Given the description of an element on the screen output the (x, y) to click on. 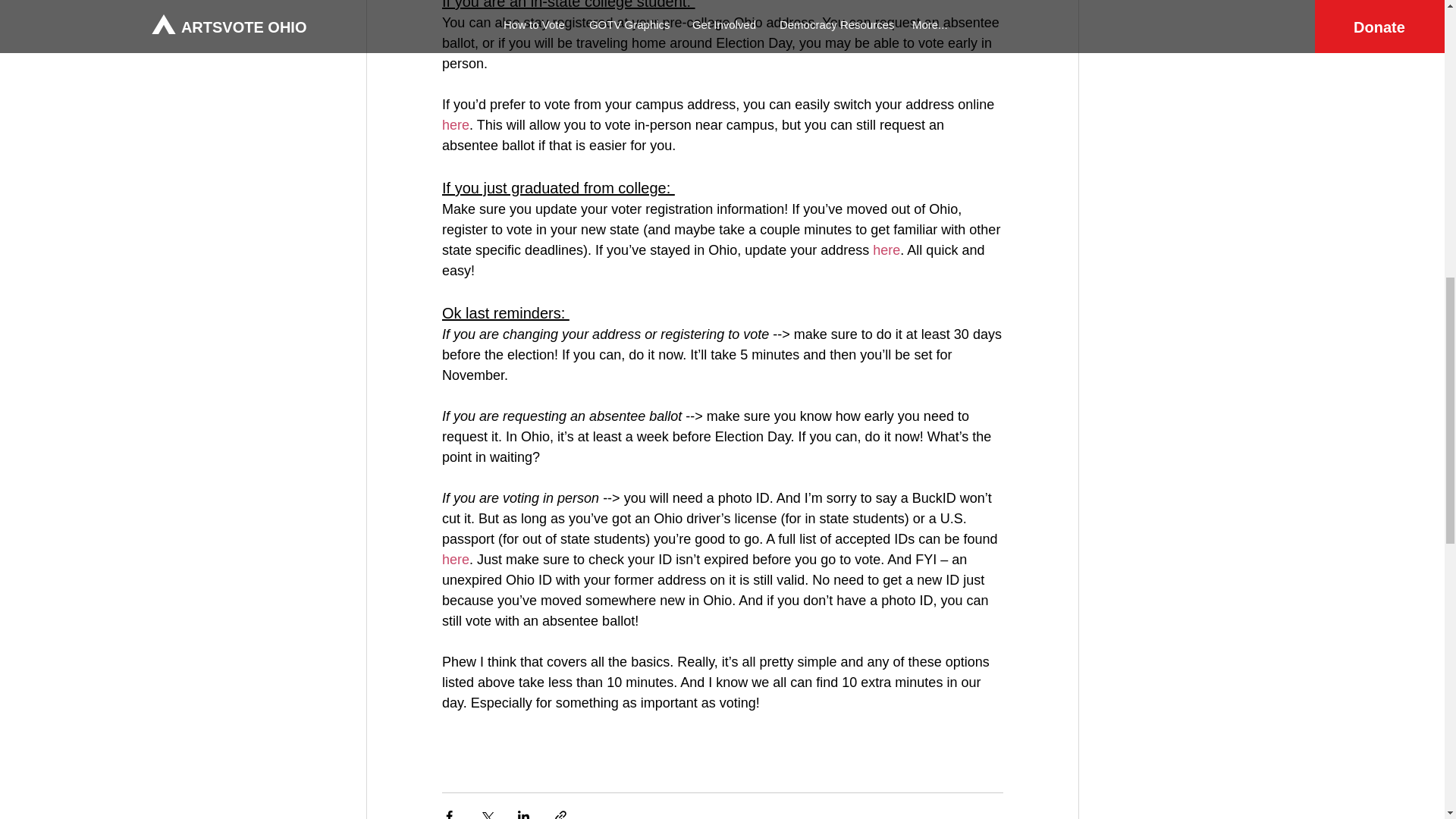
here (454, 124)
here (454, 559)
here (885, 249)
